Given the description of an element on the screen output the (x, y) to click on. 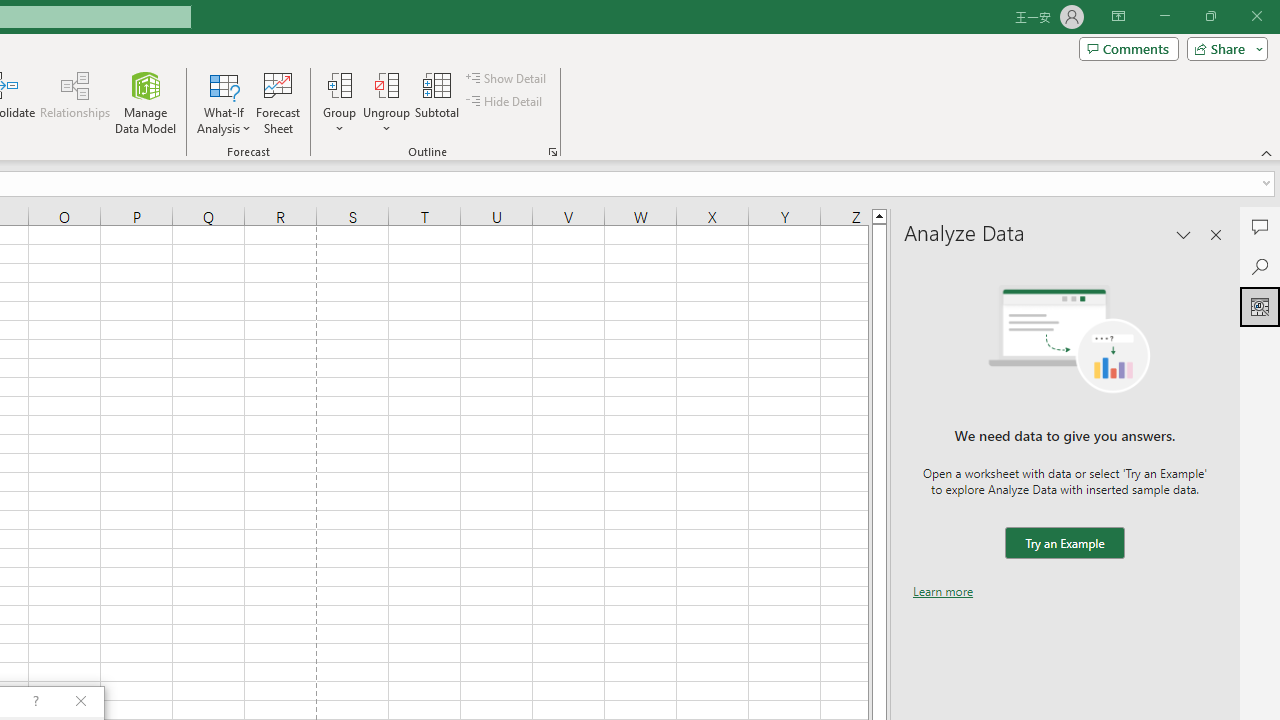
Relationships (75, 102)
Close (1256, 16)
More Options (386, 121)
Group... (339, 102)
Comments (1260, 226)
Analyze Data (1260, 306)
Hide Detail (505, 101)
Subtotal (437, 102)
Restore Down (1210, 16)
Search (1260, 266)
Collapse the Ribbon (1267, 152)
Group... (339, 84)
Forecast Sheet (278, 102)
